Given the description of an element on the screen output the (x, y) to click on. 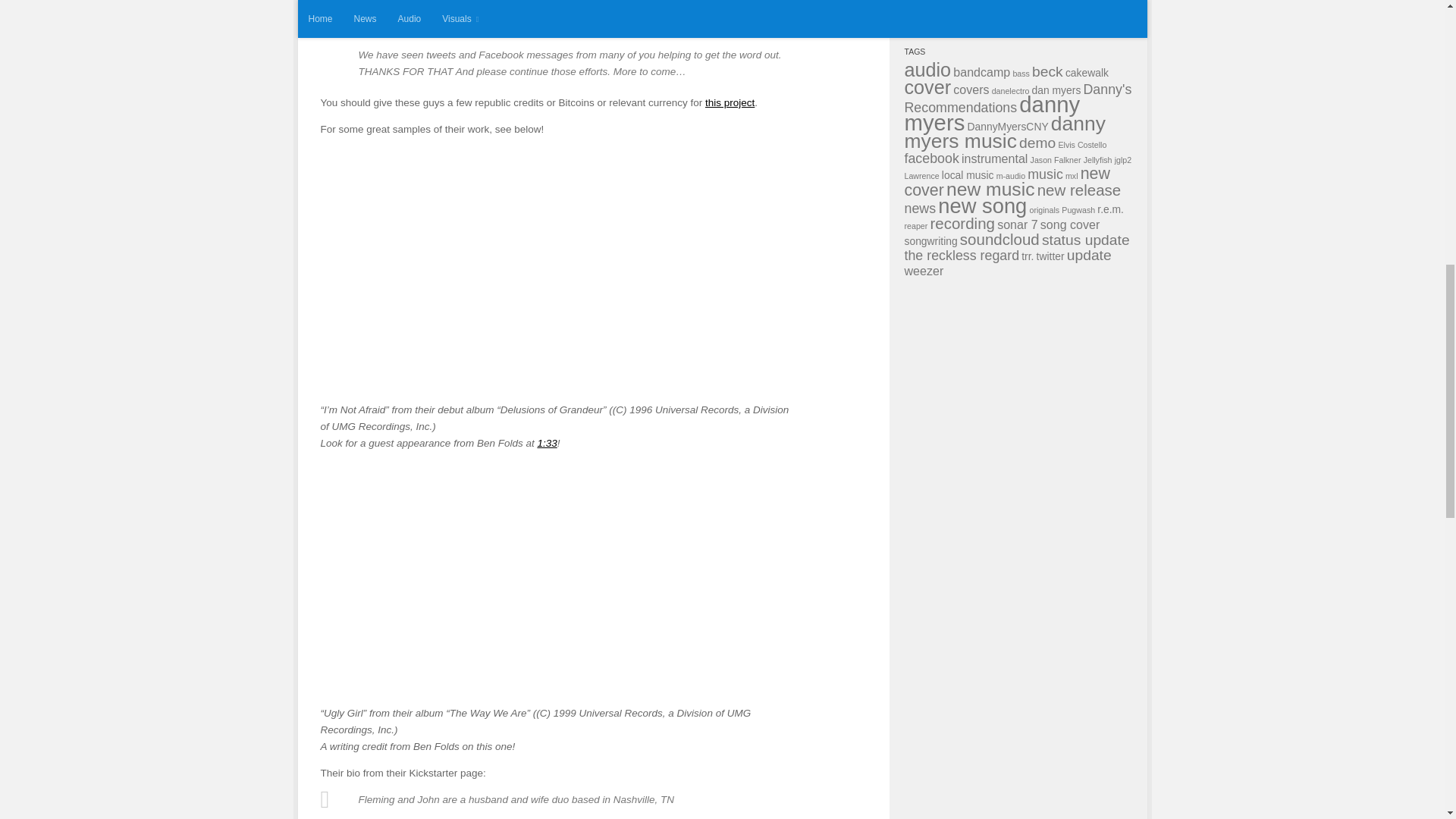
1:33 (546, 442)
this project (729, 102)
Fleming and John on Kickstarter (729, 102)
Ben Folds! (546, 442)
